Given the description of an element on the screen output the (x, y) to click on. 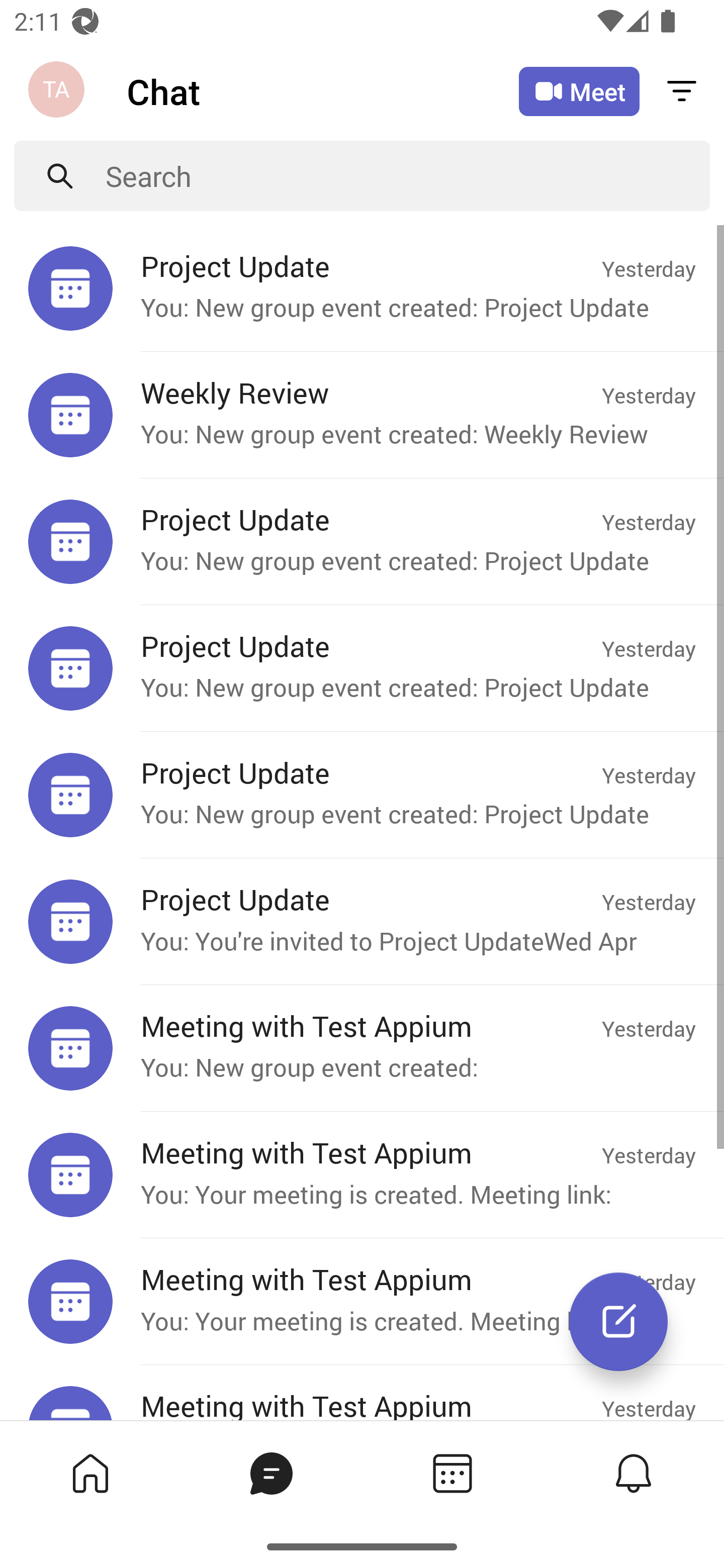
Filter chat messages (681, 90)
Navigation (58, 91)
Meet Meet now or join with an ID (579, 91)
Search (407, 176)
New chat (618, 1321)
Home tab,1 of 4, not selected (89, 1472)
Chat tab, 2 of 4 (270, 1472)
Calendar tab,3 of 4, not selected (451, 1472)
Activity tab,4 of 4, not selected (632, 1472)
